Given the description of an element on the screen output the (x, y) to click on. 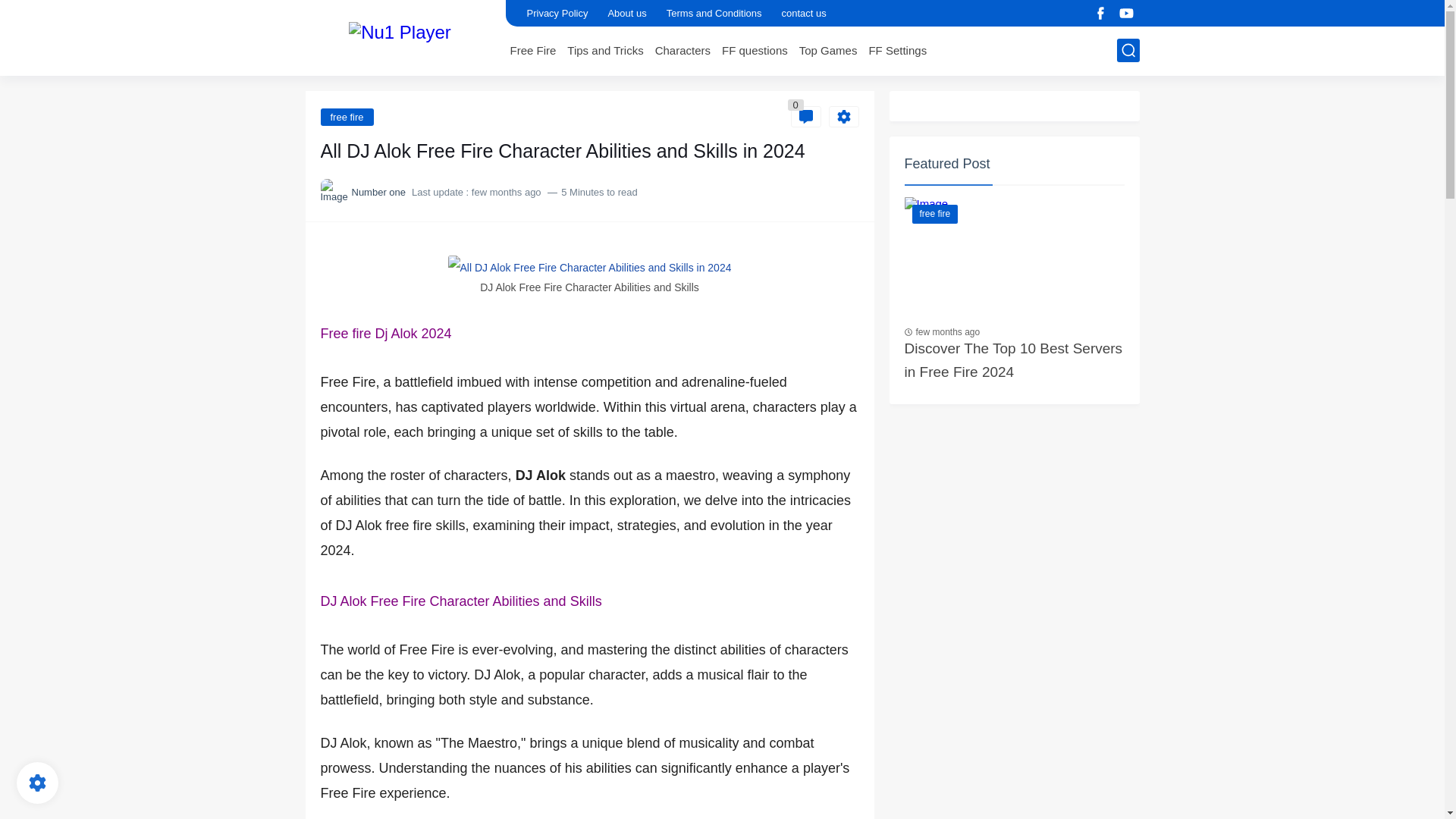
Free Fire (532, 50)
Top Games (828, 50)
FF questions (754, 50)
Top Games (828, 50)
Tips and Tricks (605, 50)
contact us (802, 12)
free fire (346, 116)
FF Settings (896, 50)
Characters (682, 50)
About us (626, 12)
